Given the description of an element on the screen output the (x, y) to click on. 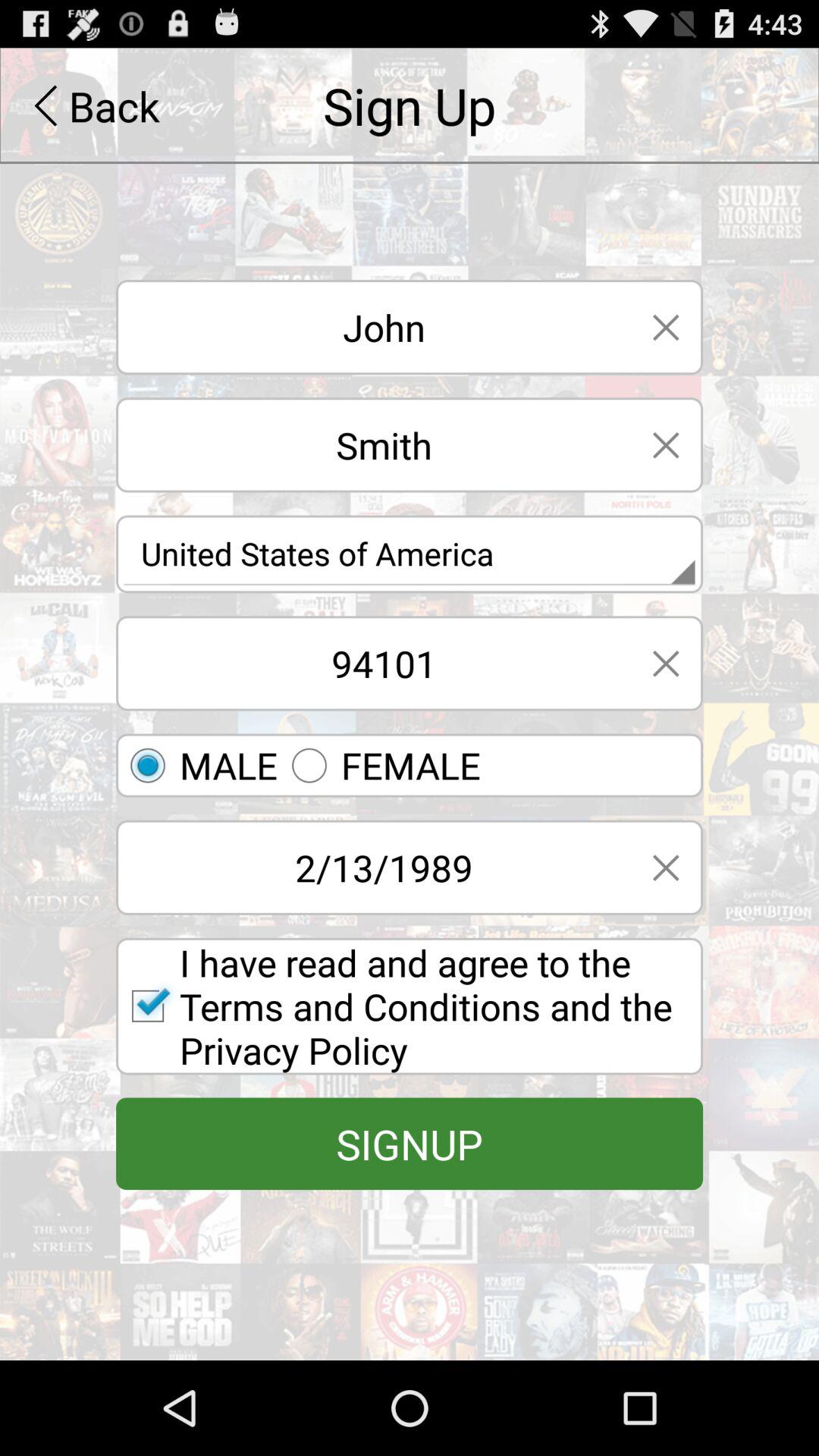
close (665, 327)
